Given the description of an element on the screen output the (x, y) to click on. 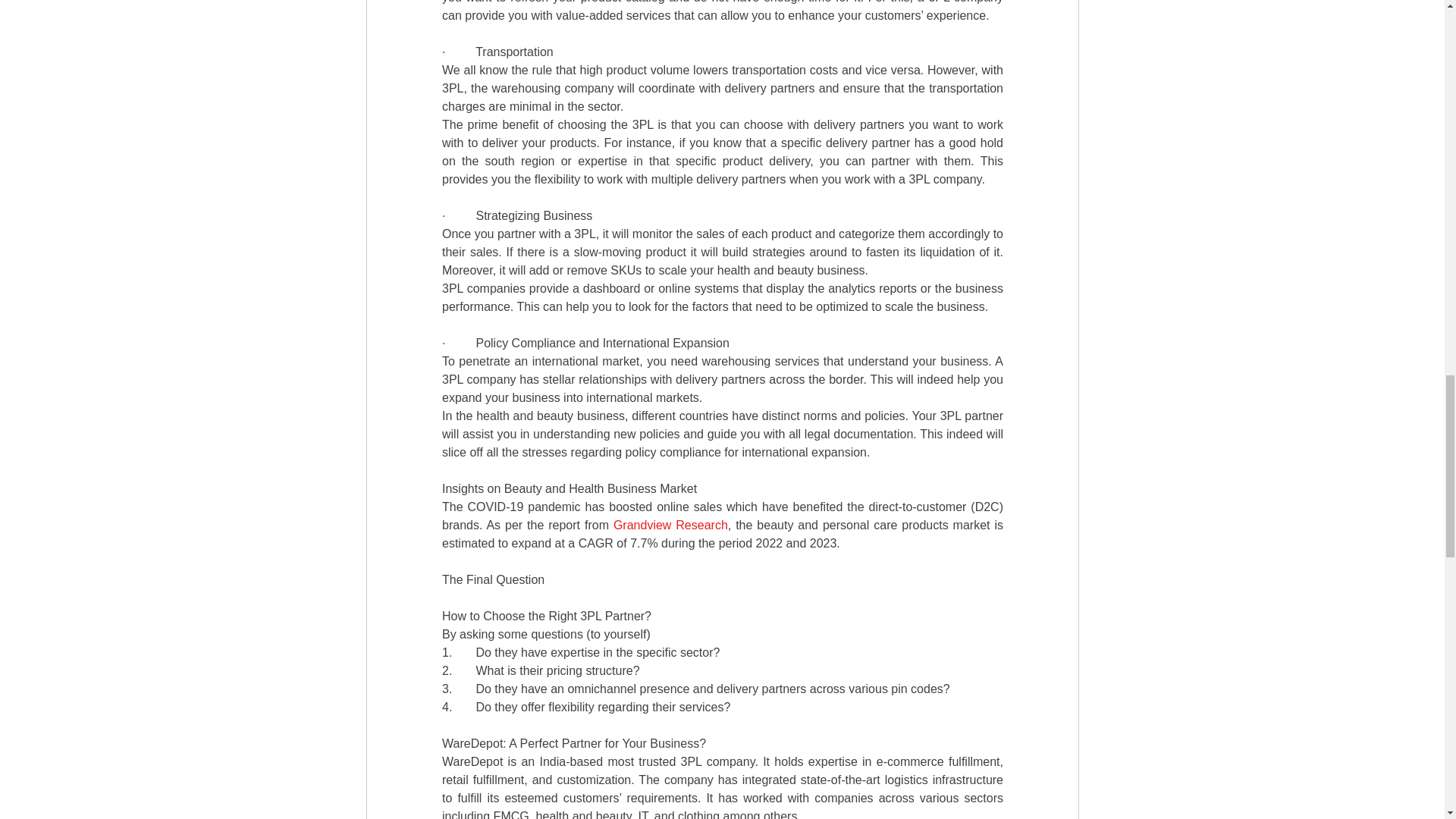
Grandview Research (669, 524)
